Given the description of an element on the screen output the (x, y) to click on. 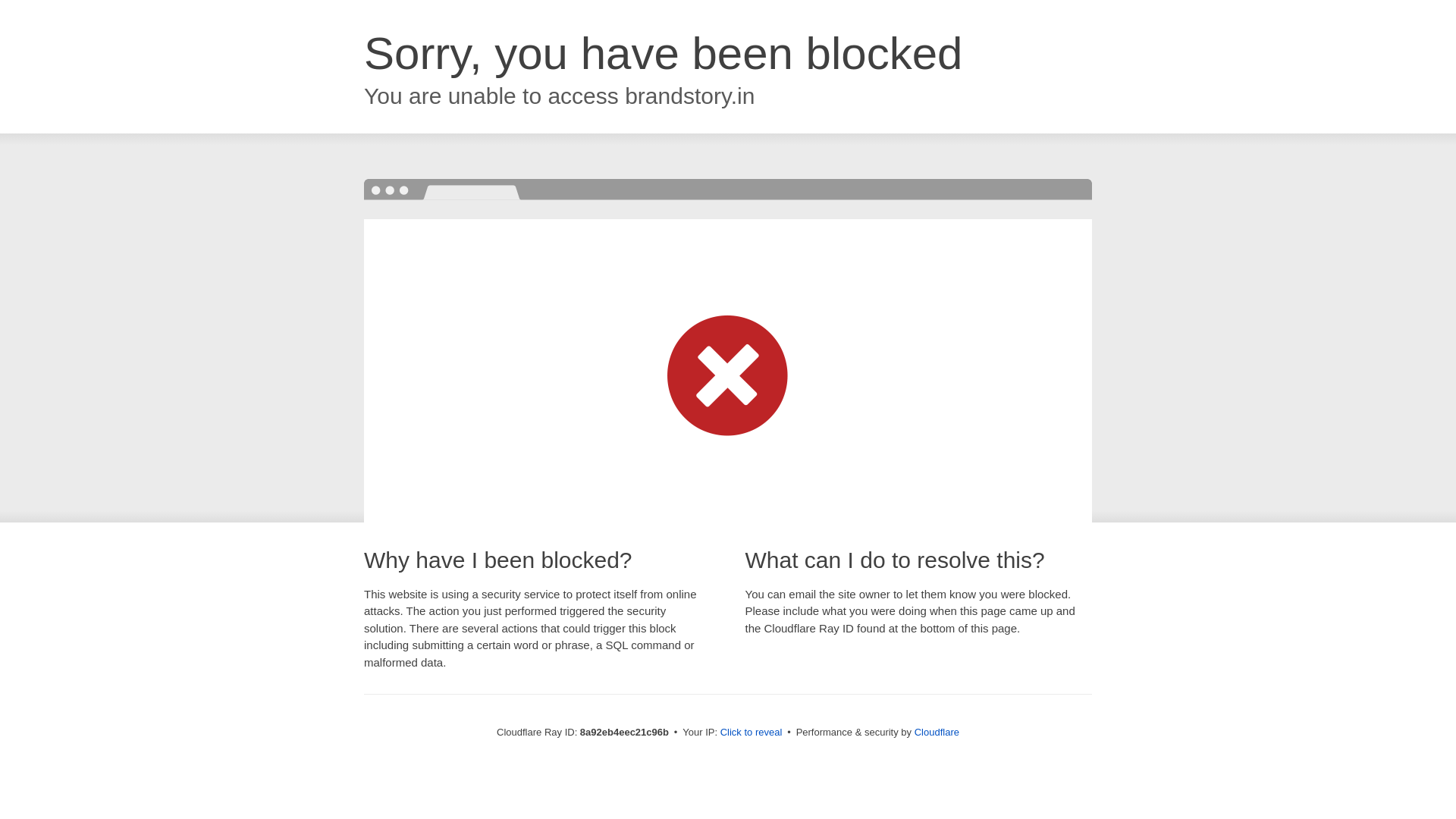
Cloudflare (936, 731)
Click to reveal (751, 732)
